Given the description of an element on the screen output the (x, y) to click on. 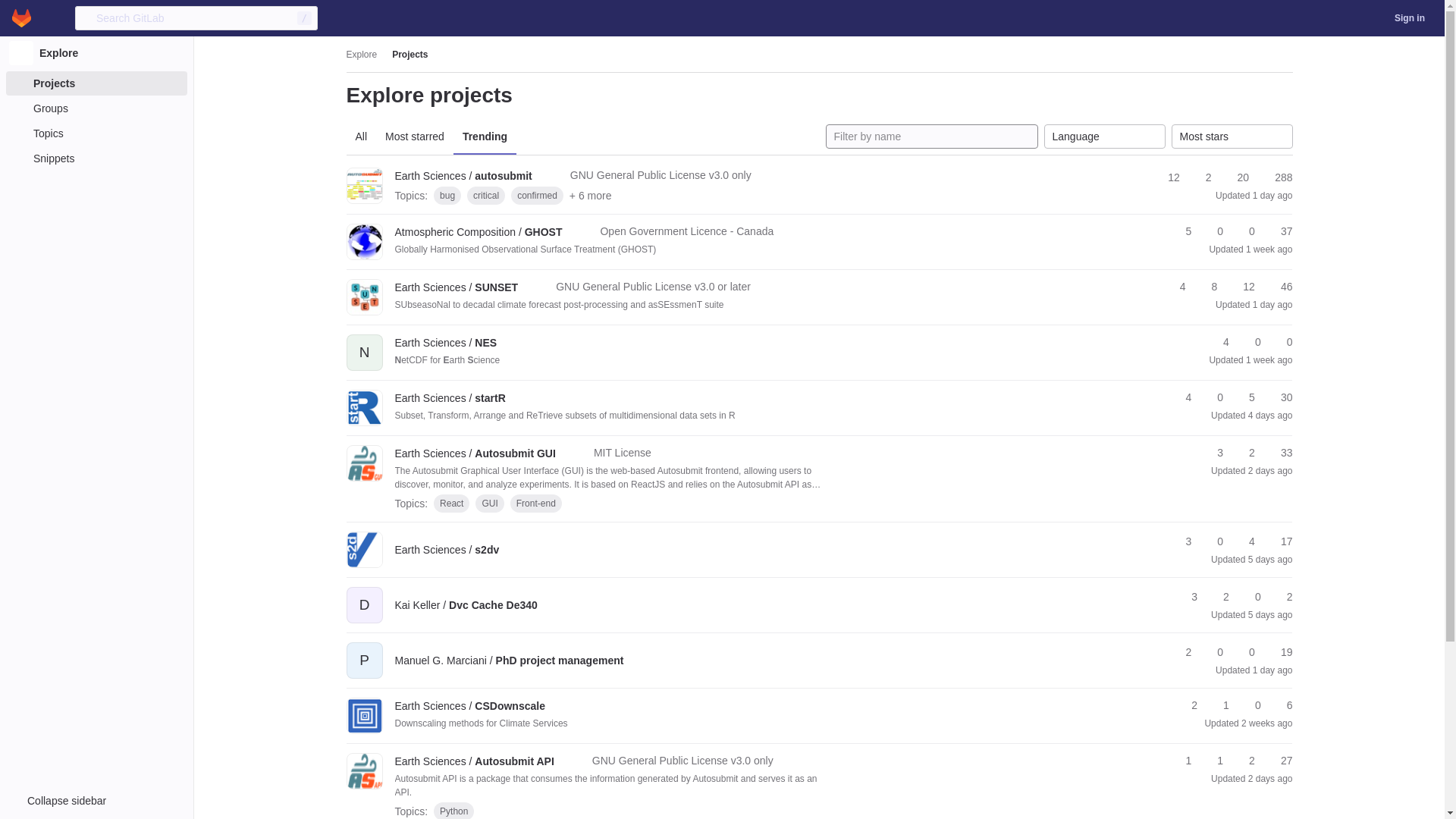
Merge requests (1244, 231)
Projects (96, 83)
Snippets (96, 158)
Trending (484, 135)
Most starred (413, 135)
Toggle sidebar (96, 800)
Explore (361, 54)
Stars (1166, 177)
Issues (1276, 177)
Forks (1213, 231)
Forks (1201, 177)
Homepage (21, 18)
Topics (96, 133)
Explore (96, 52)
